Given the description of an element on the screen output the (x, y) to click on. 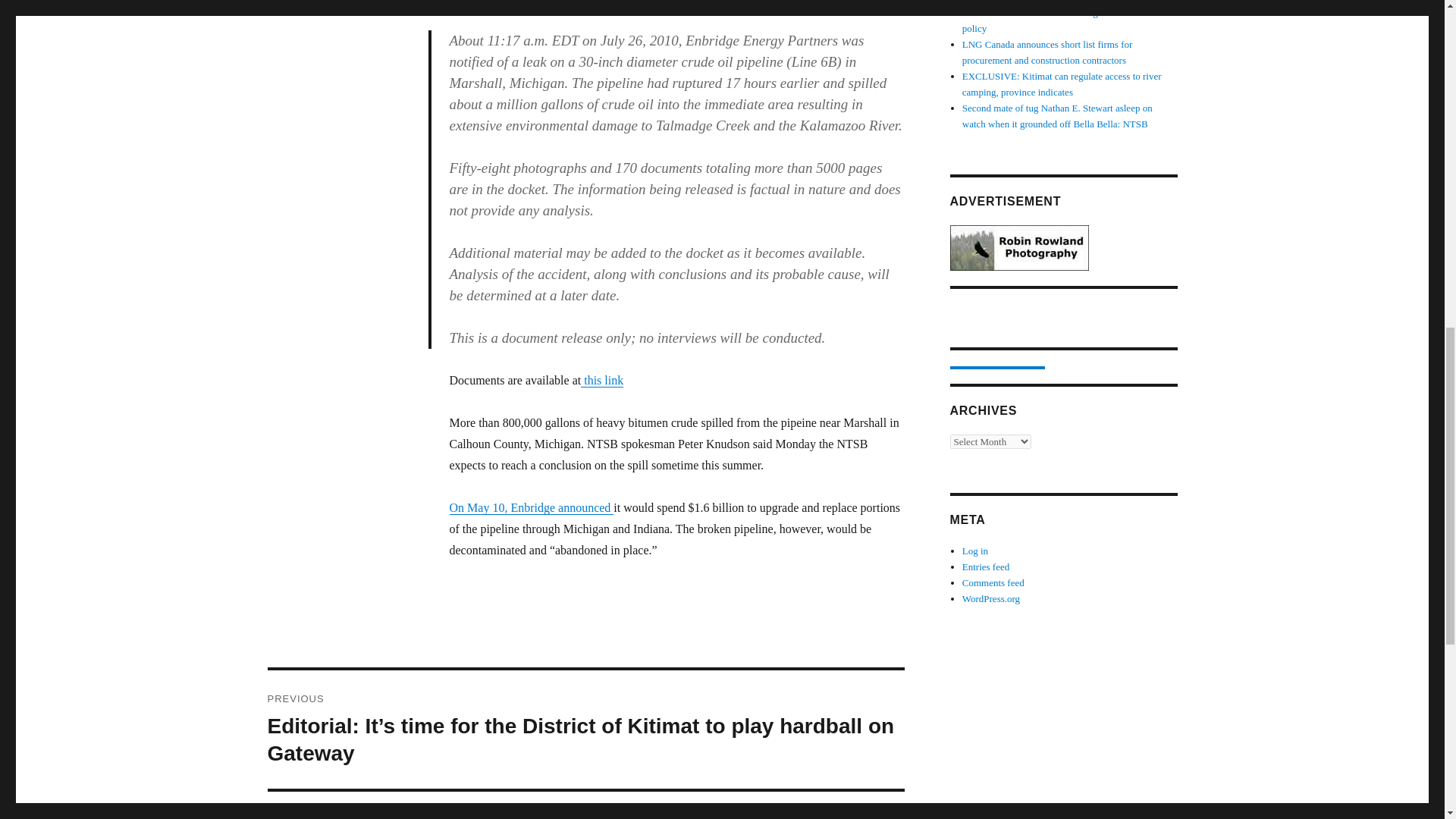
this link (601, 379)
The NTSB release (493, 2)
On May 10, Enbridge announced (530, 507)
